Given the description of an element on the screen output the (x, y) to click on. 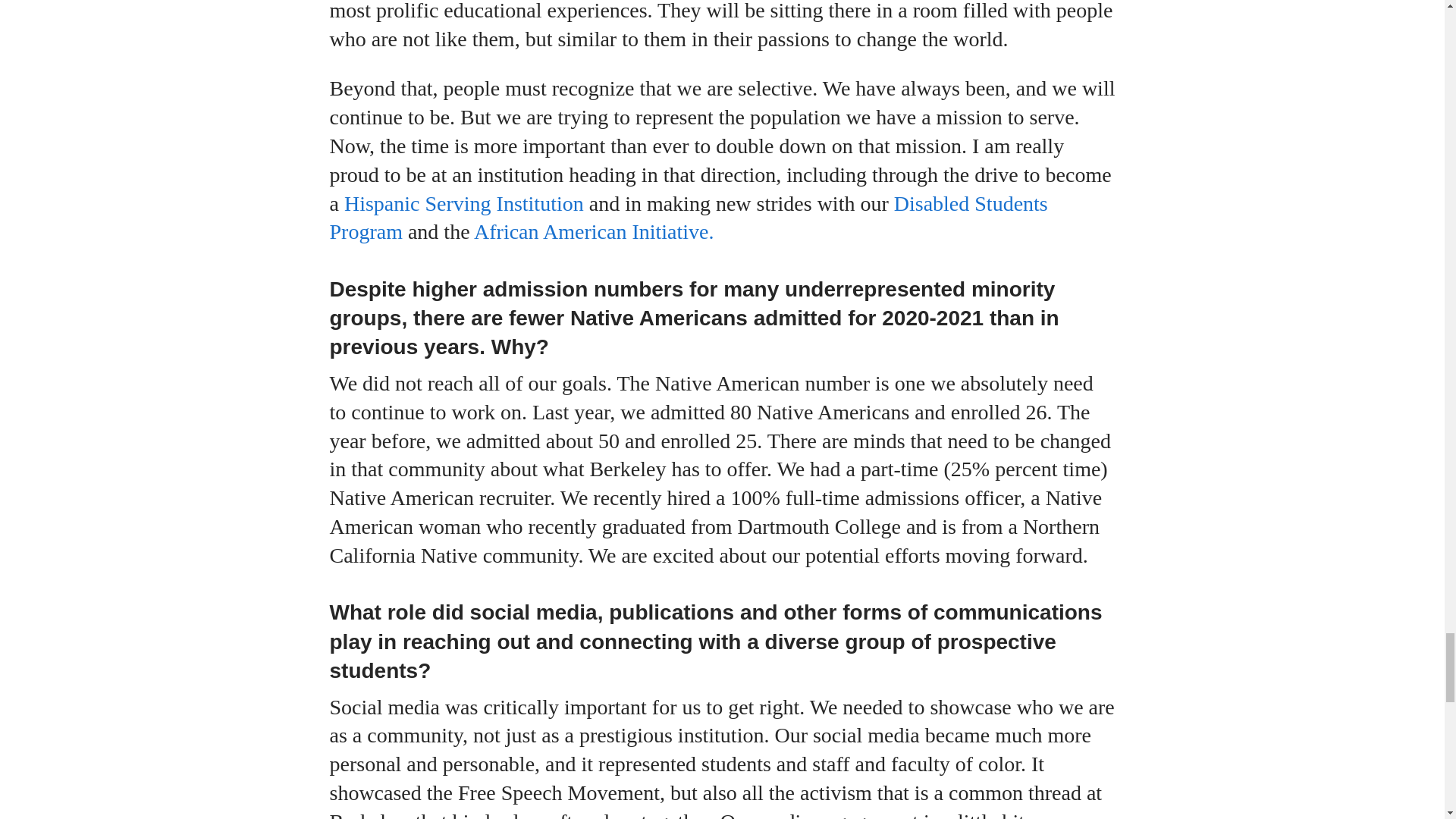
Hispanic Serving Institution (461, 203)
Disabled Students Program (687, 217)
African American Initiative. (592, 231)
